Given the description of an element on the screen output the (x, y) to click on. 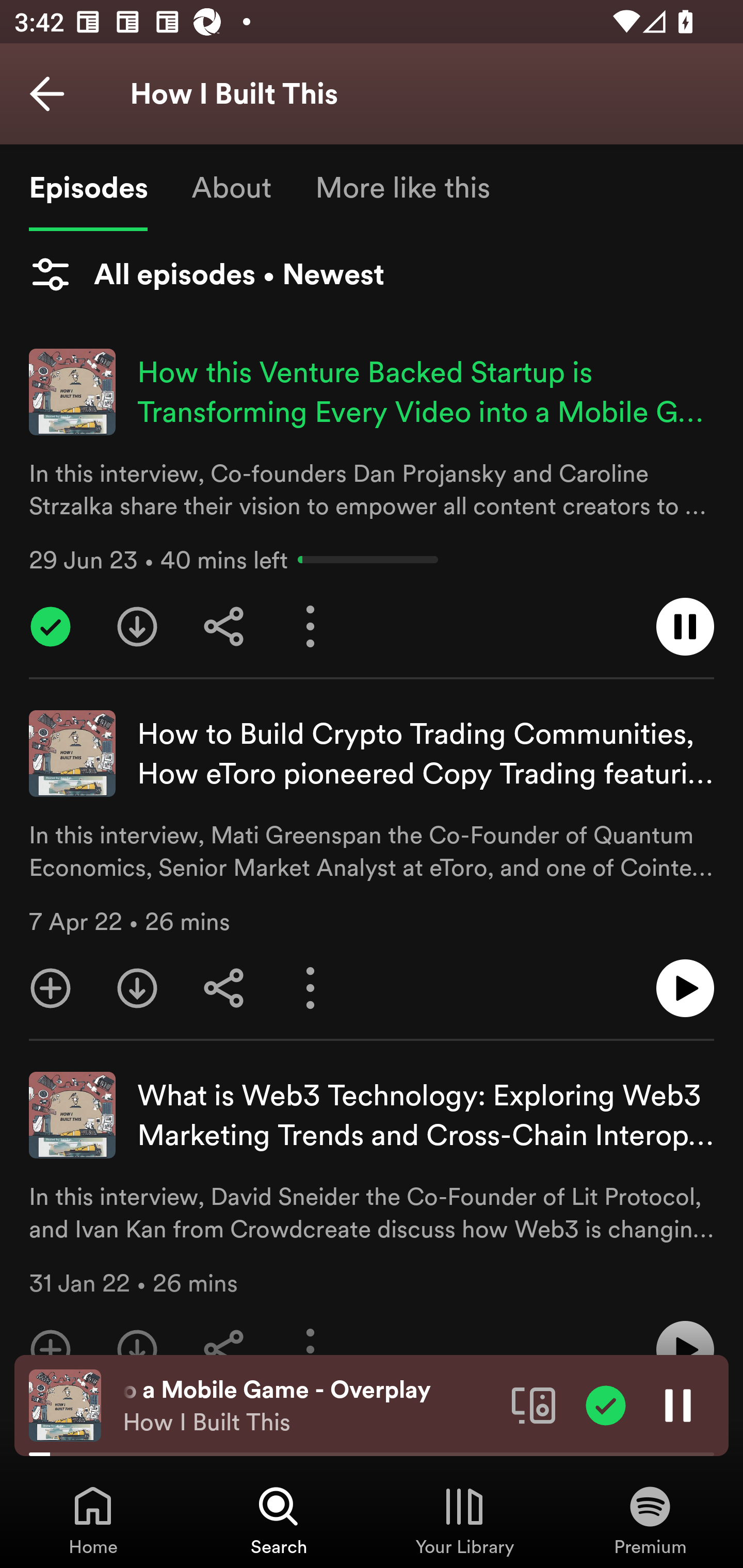
Back (46, 93)
About (231, 187)
More like this (402, 187)
All episodes • Newest (206, 274)
Share (223, 626)
Share (223, 988)
The cover art of the currently playing track (64, 1404)
Connect to a device. Opens the devices menu (533, 1404)
Item added (605, 1404)
Pause (677, 1404)
Home, Tab 1 of 4 Home Home (92, 1519)
Search, Tab 2 of 4 Search Search (278, 1519)
Your Library, Tab 3 of 4 Your Library Your Library (464, 1519)
Premium, Tab 4 of 4 Premium Premium (650, 1519)
